Given the description of an element on the screen output the (x, y) to click on. 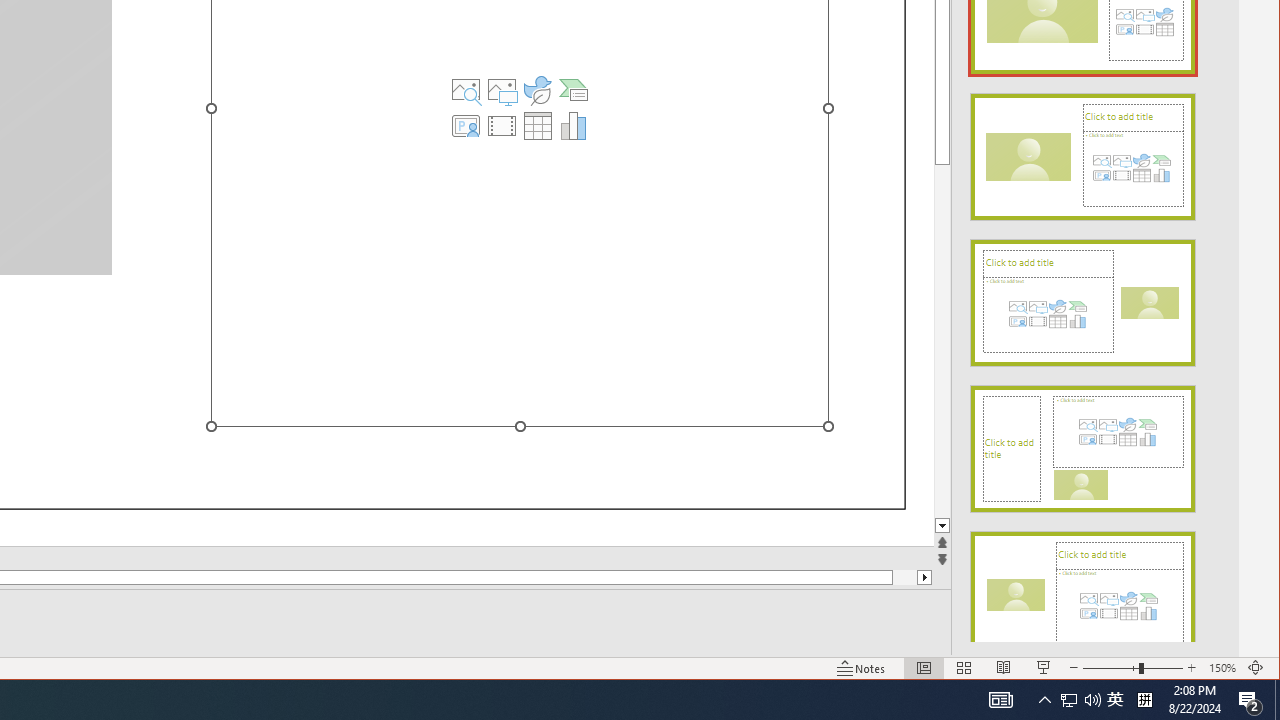
Insert Video (502, 125)
Zoom 150% (1222, 668)
Insert Table (538, 125)
Insert a SmartArt Graphic (574, 89)
